Given the description of an element on the screen output the (x, y) to click on. 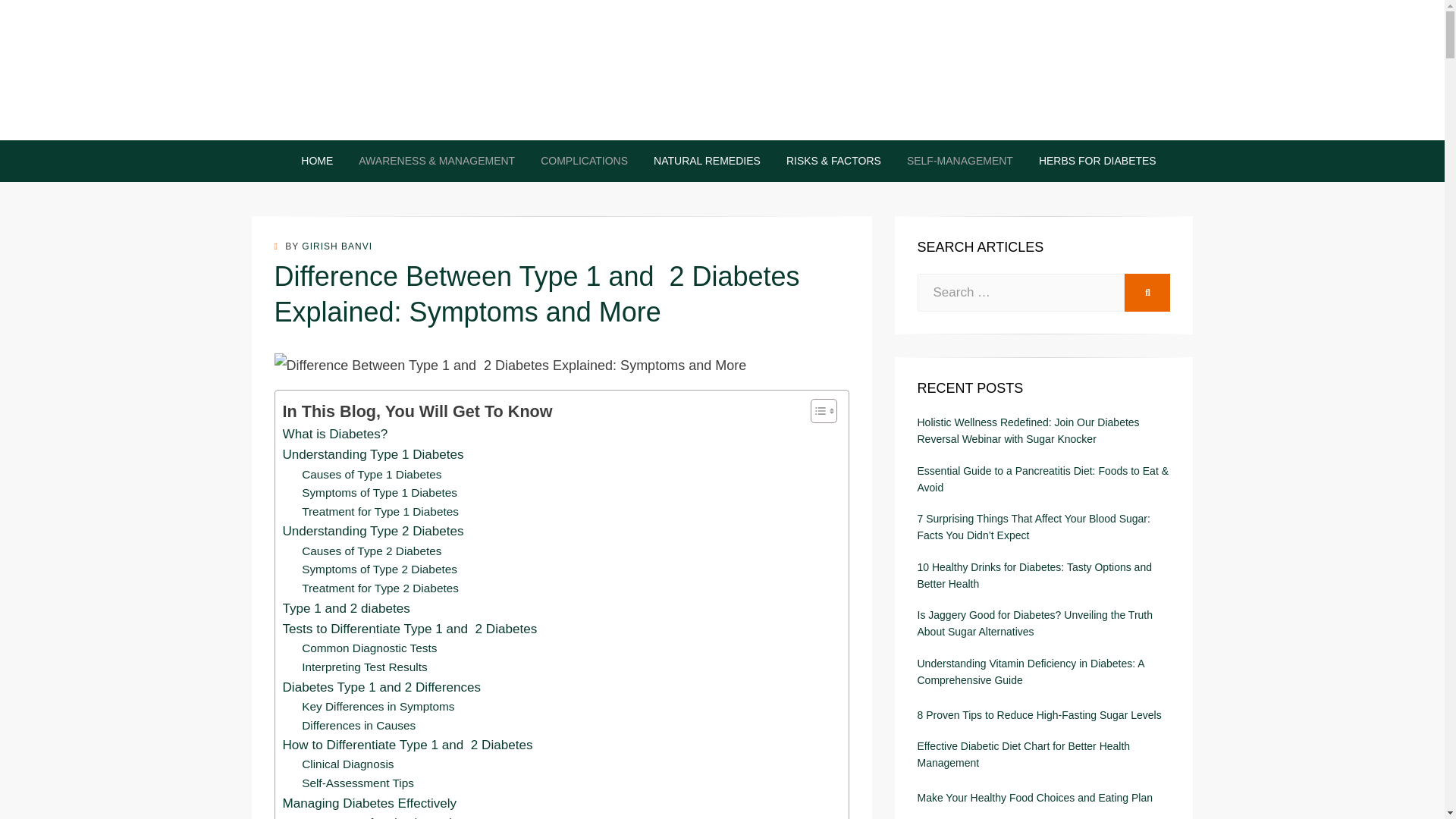
Self-Assessment Tips (357, 783)
Managing Diabetes Effectively (369, 803)
Causes of Type 1 Diabetes (371, 475)
Tests to Differentiate Type 1 and  2 Diabetes (409, 629)
Type 1 and 2 diabetes (345, 608)
COMPLICATIONS (583, 160)
NATURAL REMEDIES (706, 160)
What is Diabetes? (334, 434)
How to Differentiate Type 1 and  2 Diabetes (407, 744)
Treatment for Type 1 Diabetes (379, 511)
